Given the description of an element on the screen output the (x, y) to click on. 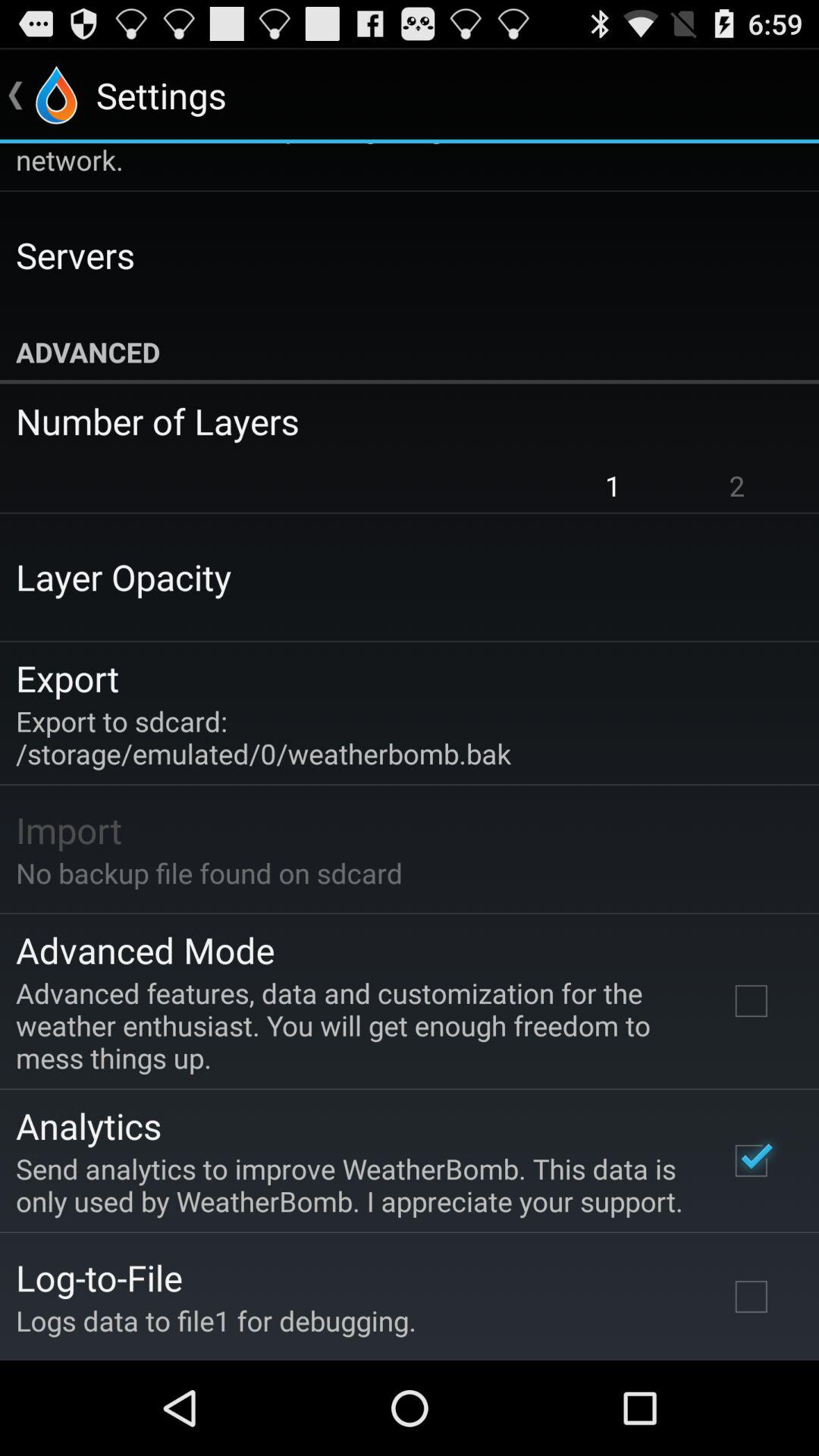
flip to default action when item (399, 160)
